Given the description of an element on the screen output the (x, y) to click on. 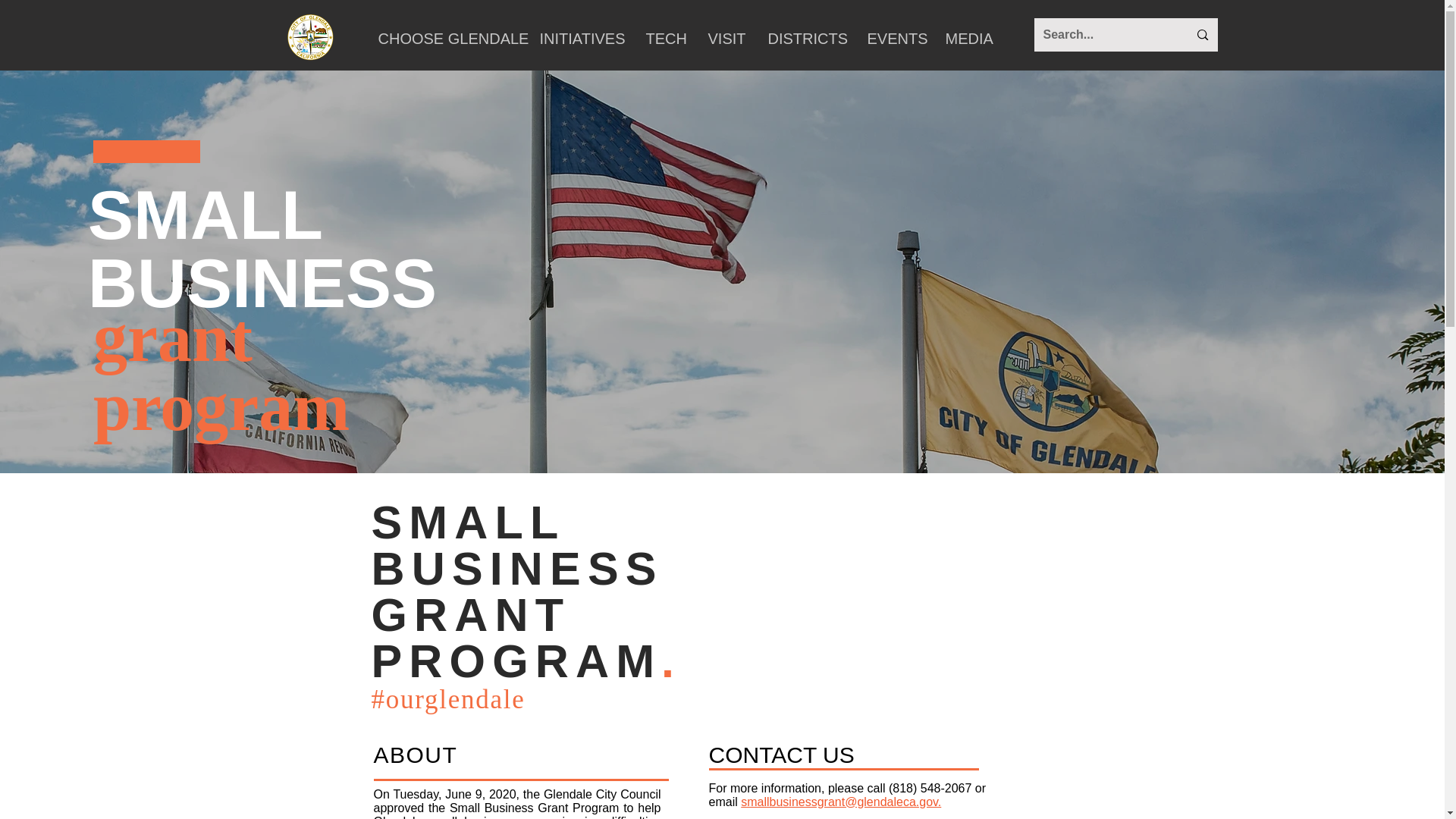
DISTRICTS (806, 39)
VISIT (725, 39)
